Given the description of an element on the screen output the (x, y) to click on. 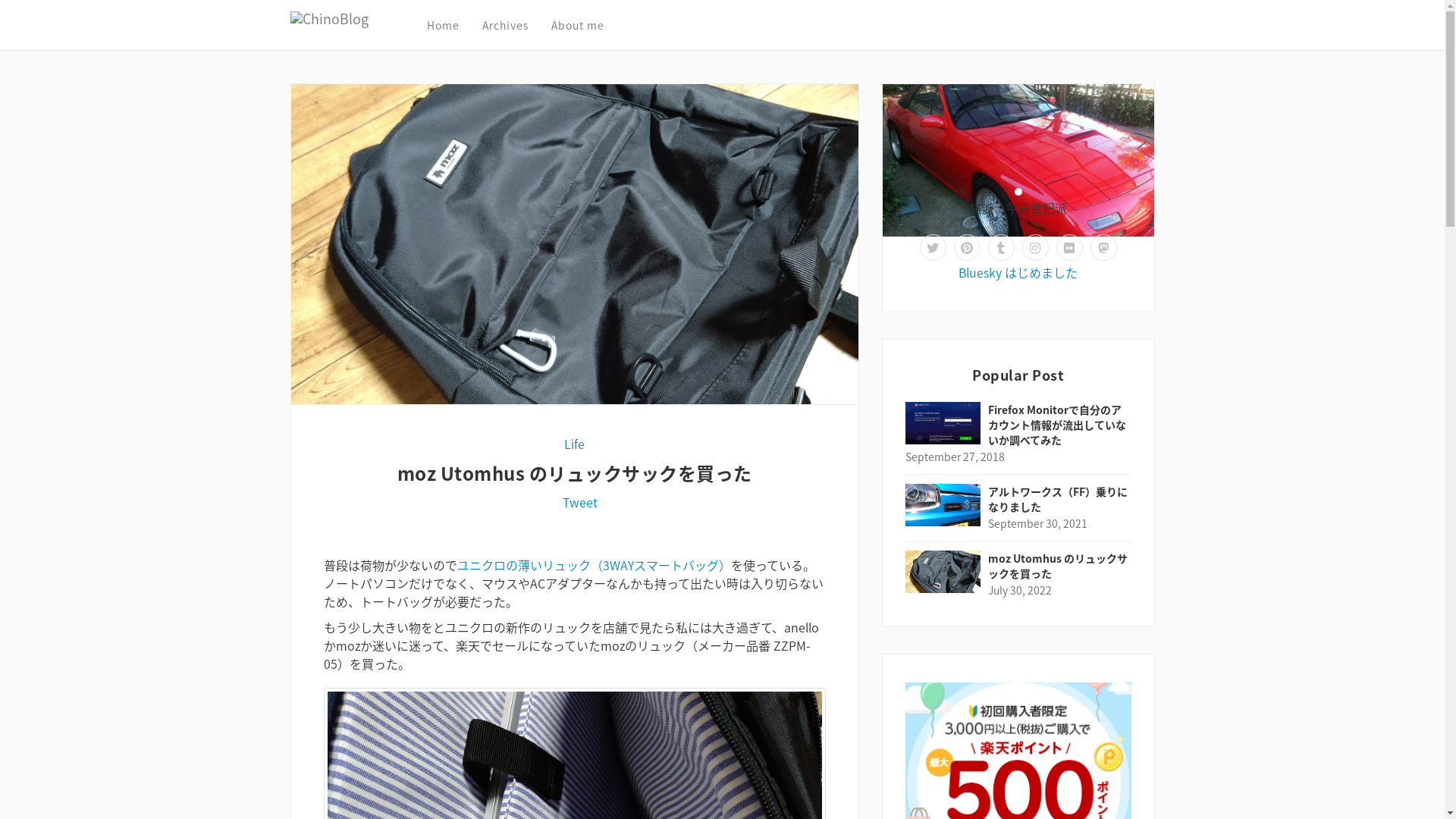
Home Element type: text (453, 25)
Archives Element type: text (516, 25)
Life Element type: text (574, 443)
ChinoBlog Element type: hover (352, 18)
About me Element type: text (588, 25)
